Given the description of an element on the screen output the (x, y) to click on. 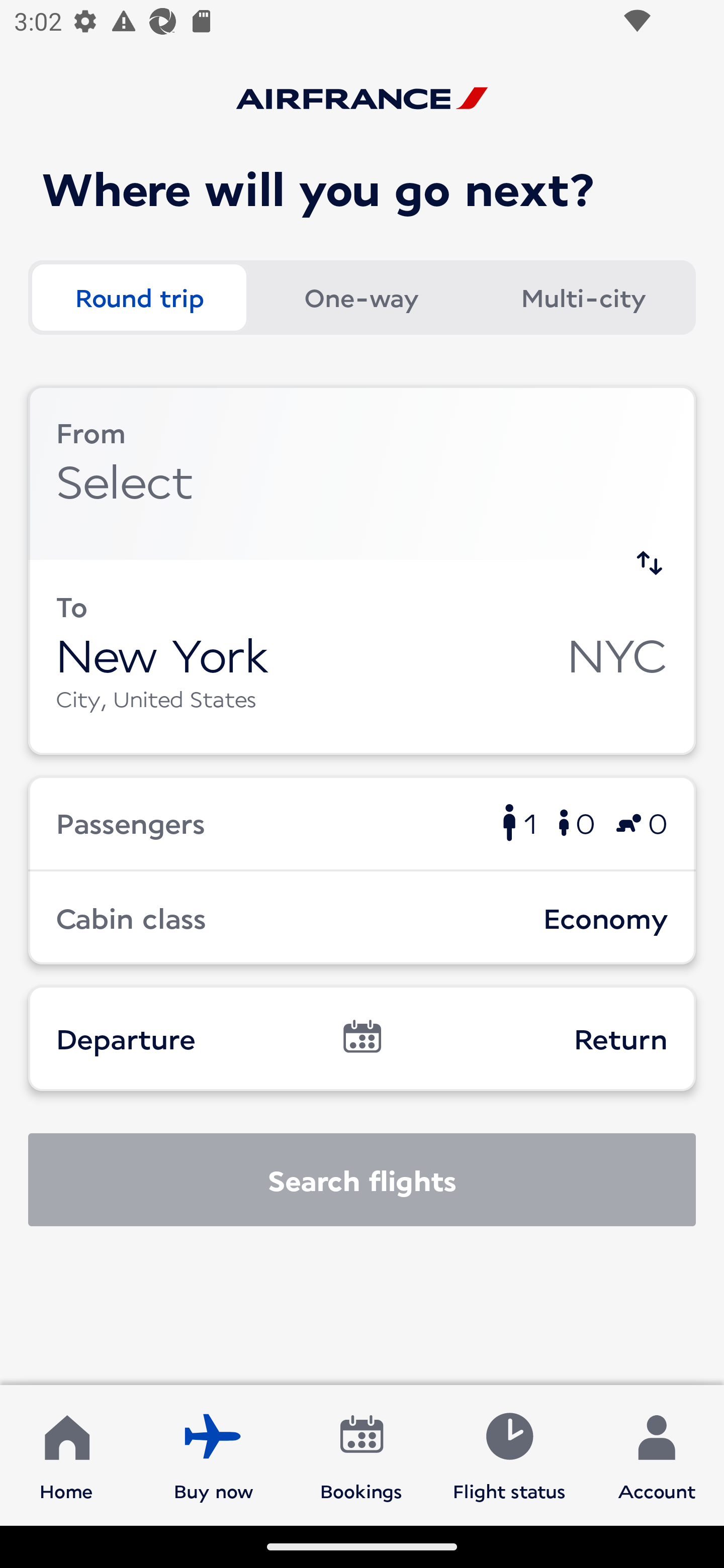
Round trip (139, 297)
One-way (361, 297)
Multi-city (583, 297)
From Select (361, 472)
To New York NYC City, United States (361, 656)
Passengers 1 0 0 (361, 822)
Cabin class Economy (361, 917)
Departure Return (361, 1038)
Search flights (361, 1179)
Home (66, 1454)
Bookings (361, 1454)
Flight status (509, 1454)
Account (657, 1454)
